Given the description of an element on the screen output the (x, y) to click on. 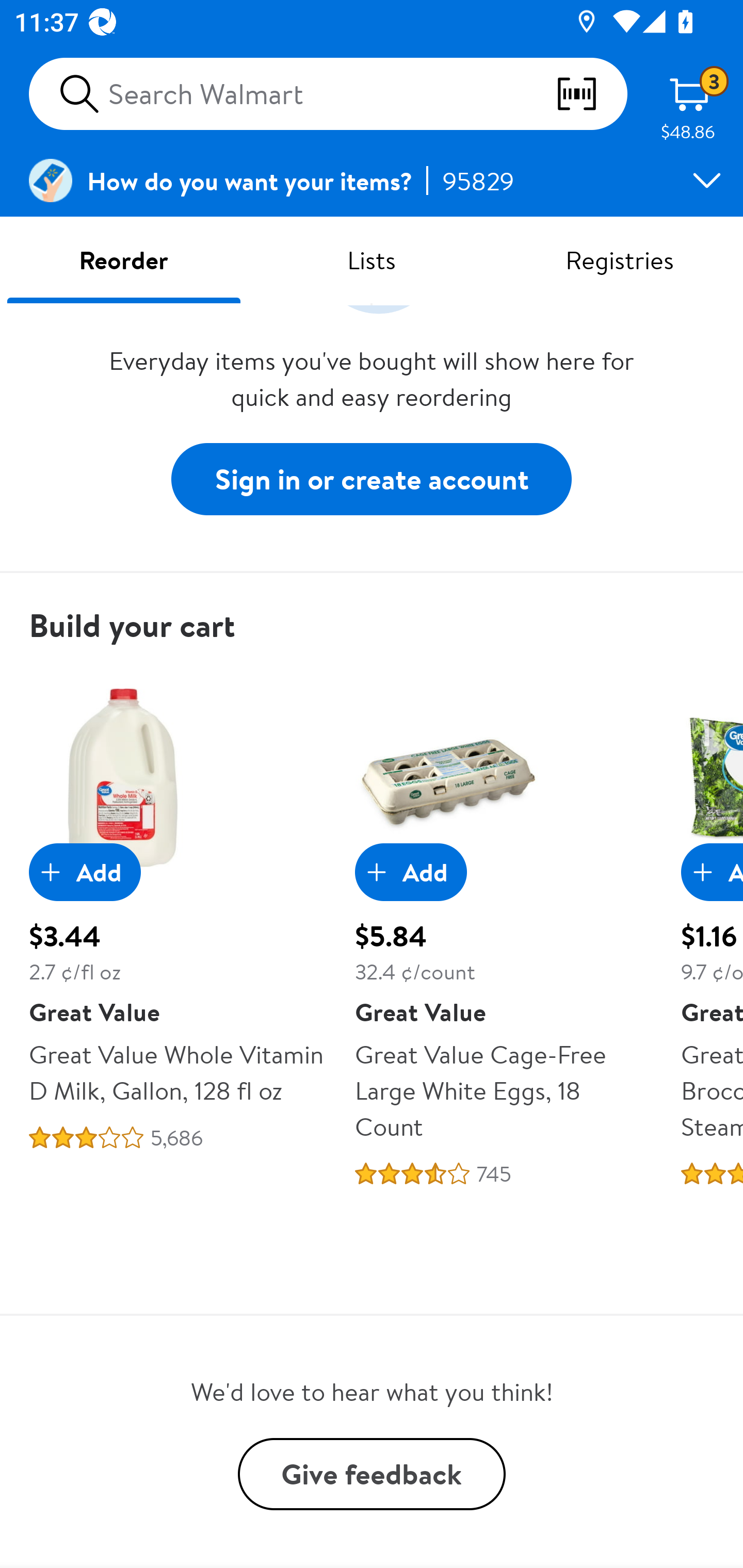
Search Walmart scan barcodes qr codes and more (327, 94)
scan barcodes qr codes and more (591, 94)
Lists (371, 259)
Registries (619, 259)
Sign in or create account (371, 479)
Give feedback (371, 1473)
